Given the description of an element on the screen output the (x, y) to click on. 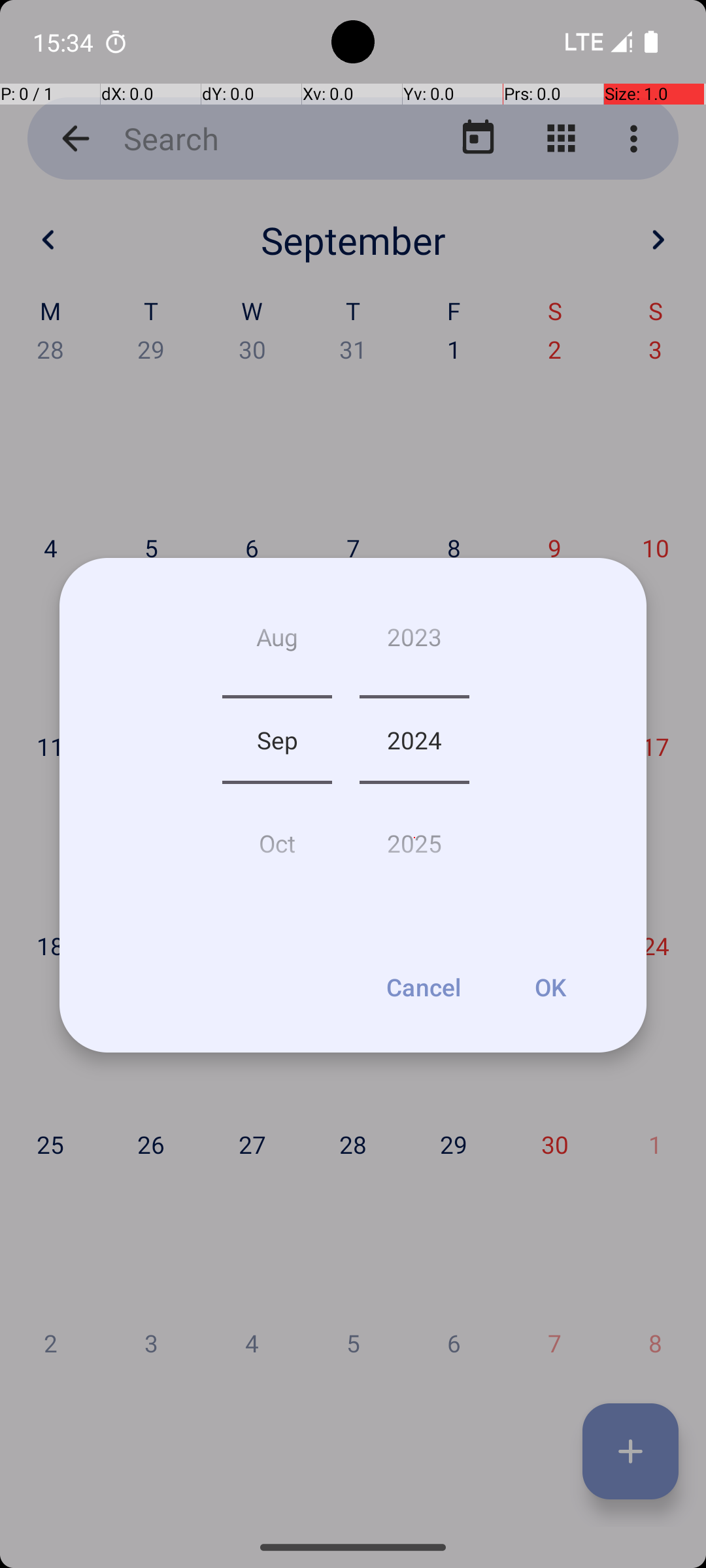
Aug Element type: android.widget.Button (277, 641)
2025 Element type: android.widget.Button (414, 837)
